Given the description of an element on the screen output the (x, y) to click on. 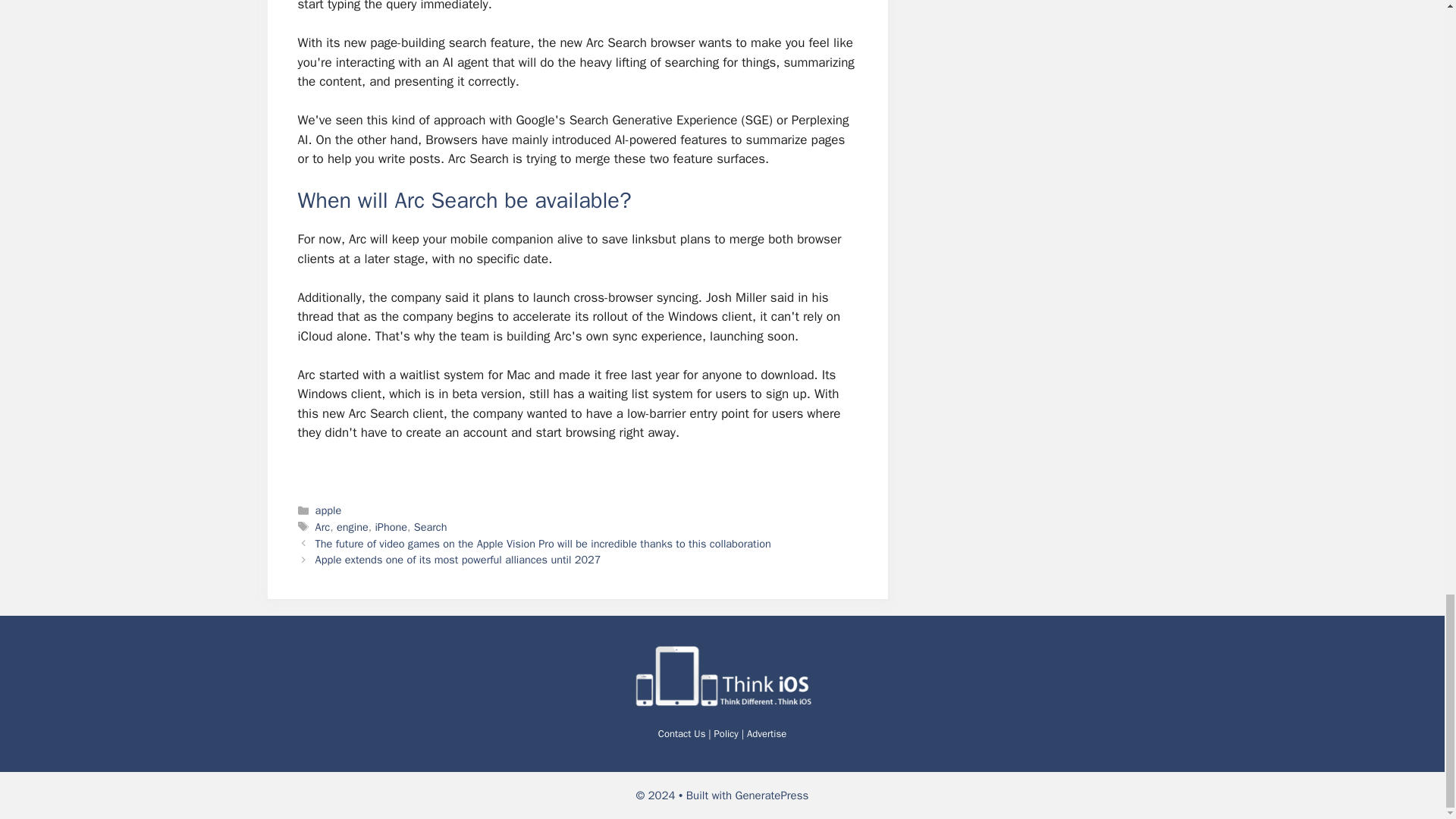
Contact Us (682, 733)
Search (429, 526)
Policy (726, 733)
GeneratePress (772, 795)
Apple extends one of its most powerful alliances until 2027 (458, 559)
engine (352, 526)
Arc (322, 526)
Advertise (766, 733)
apple (328, 509)
iPhone (390, 526)
